Given the description of an element on the screen output the (x, y) to click on. 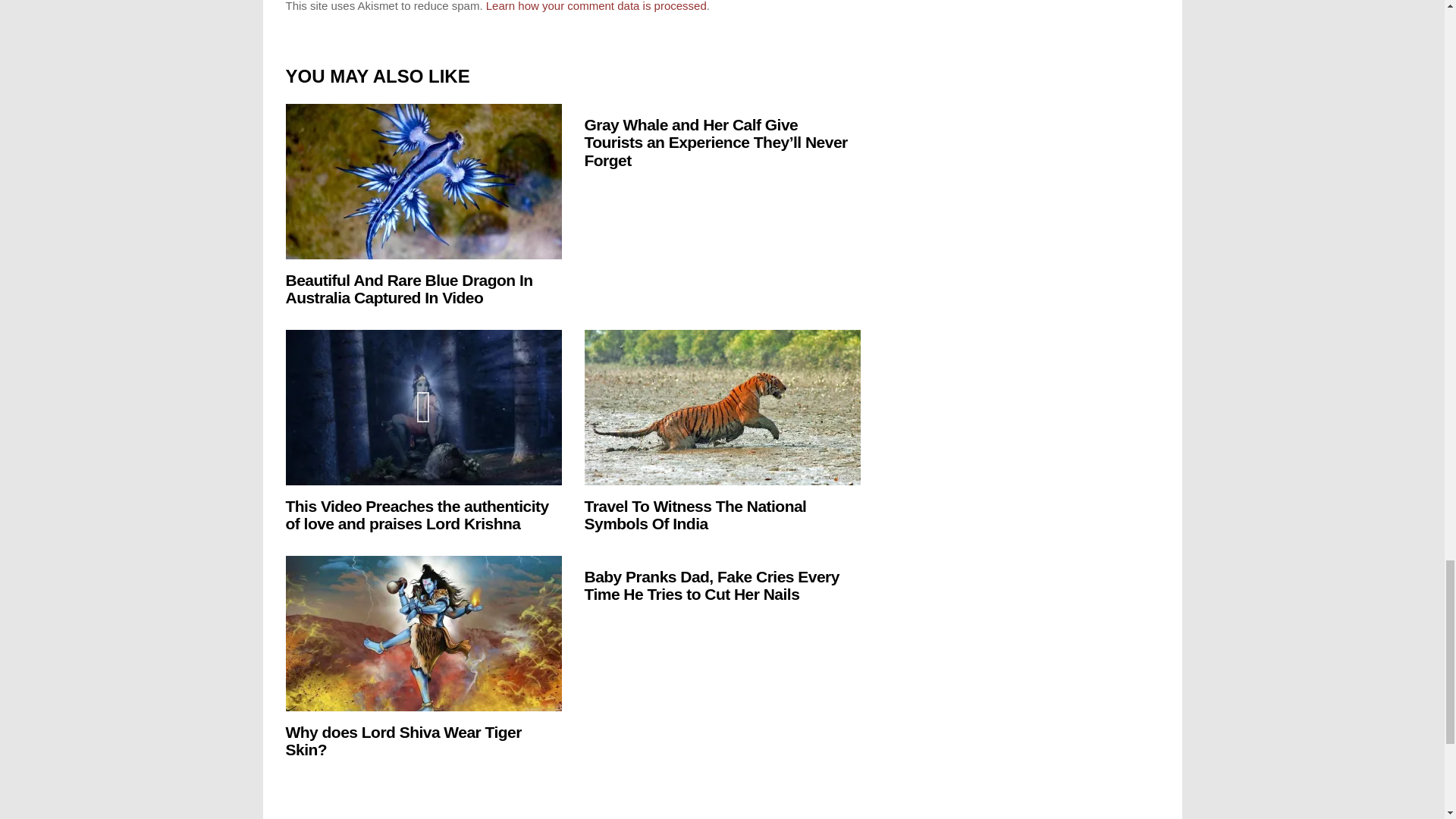
Learn how your comment data is processed (596, 6)
